Given the description of an element on the screen output the (x, y) to click on. 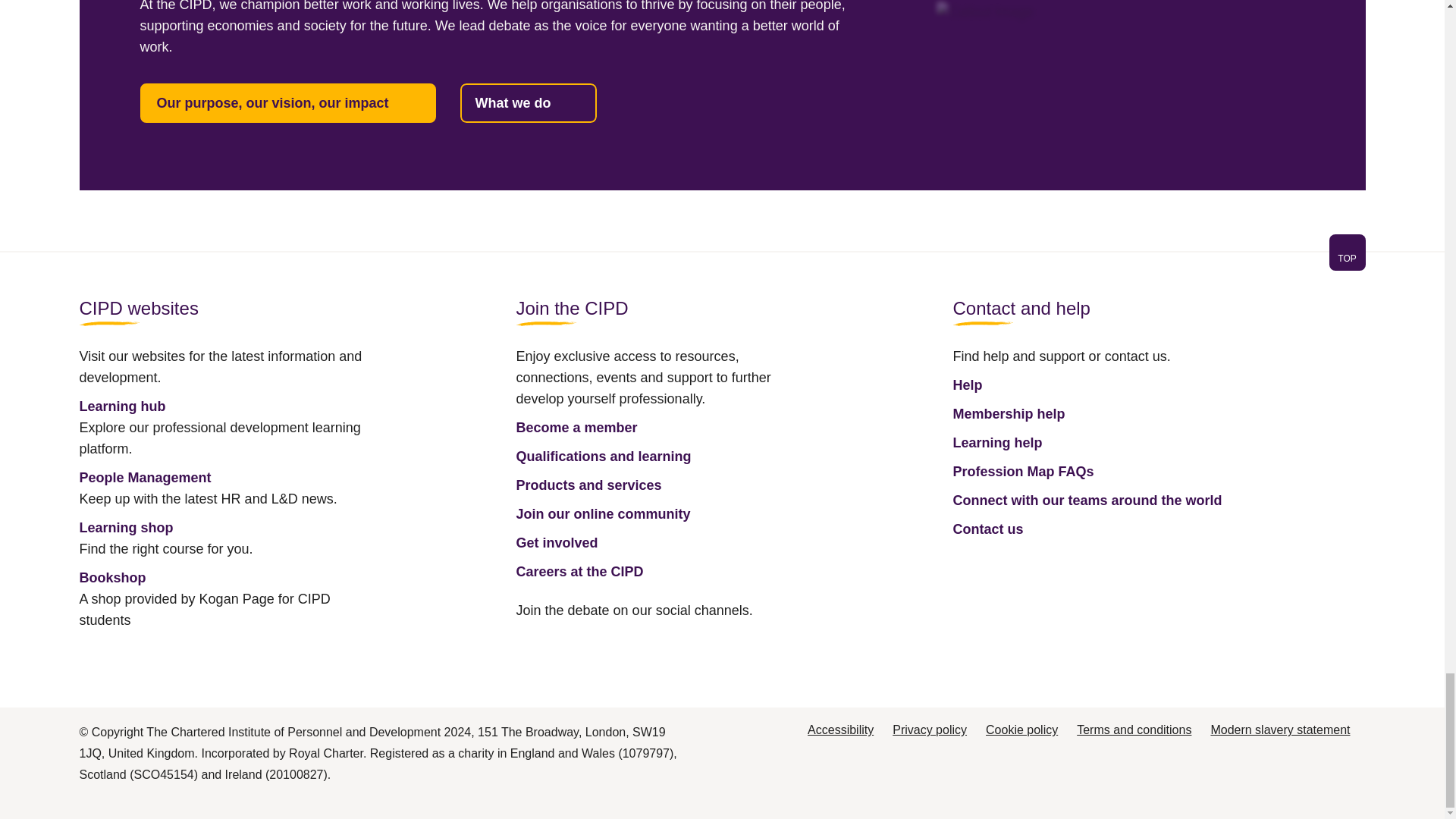
TOP (721, 261)
TOP (1346, 258)
TOP (1346, 252)
